Given the description of an element on the screen output the (x, y) to click on. 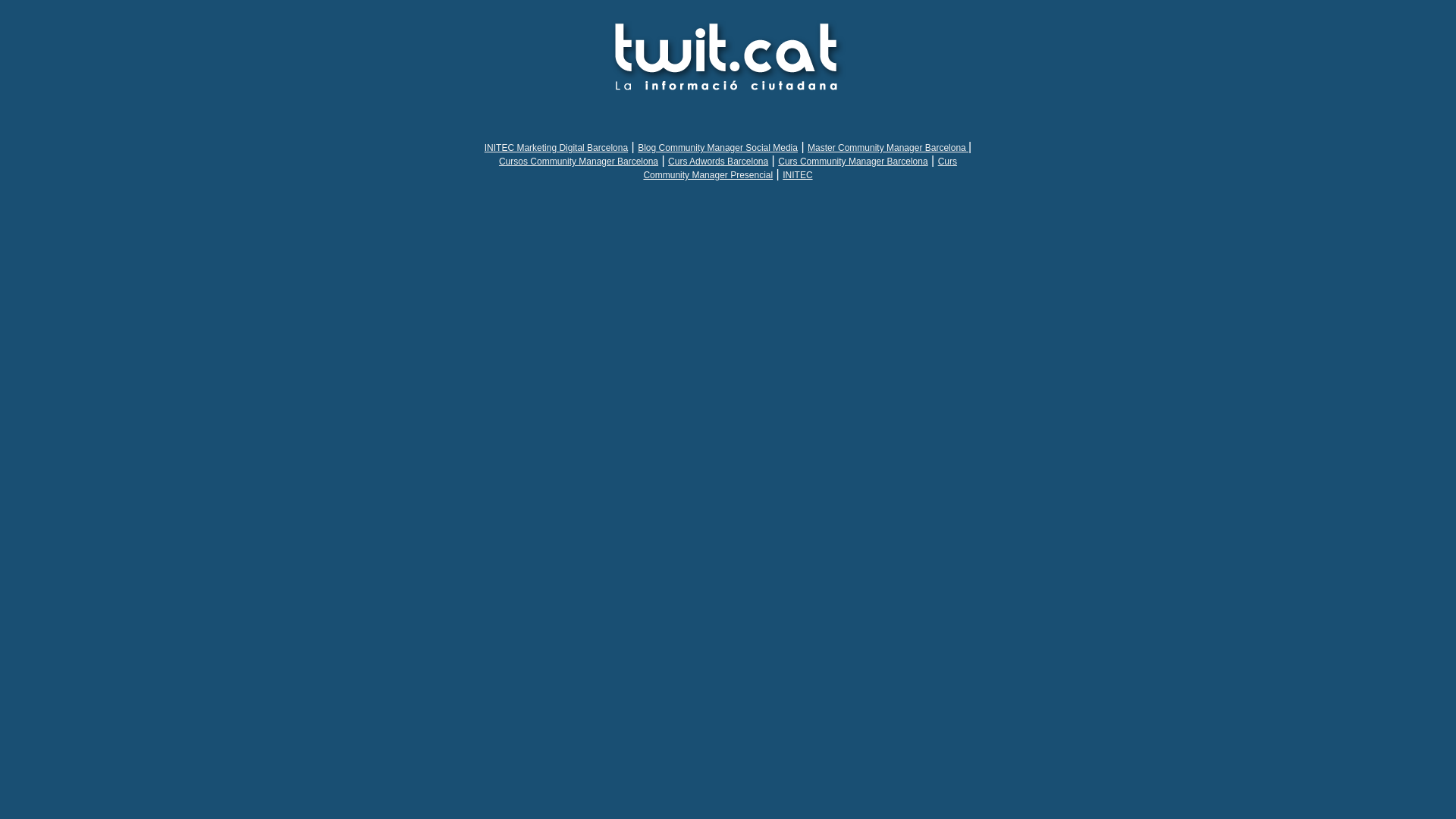
INITEC Marketing Digital Barcelona Element type: text (555, 147)
Cursos Community Manager Barcelona Element type: text (578, 161)
Curs Community Manager Presencial Element type: text (800, 168)
INITEC Element type: text (797, 174)
Curs Adwords Barcelona Element type: text (718, 161)
Blog Community Manager Social Media Element type: text (717, 147)
Curs Community Manager Barcelona Element type: text (852, 161)
twit.cat Element type: hover (727, 54)
Master Community Manager Barcelona Element type: text (887, 147)
